Given the description of an element on the screen output the (x, y) to click on. 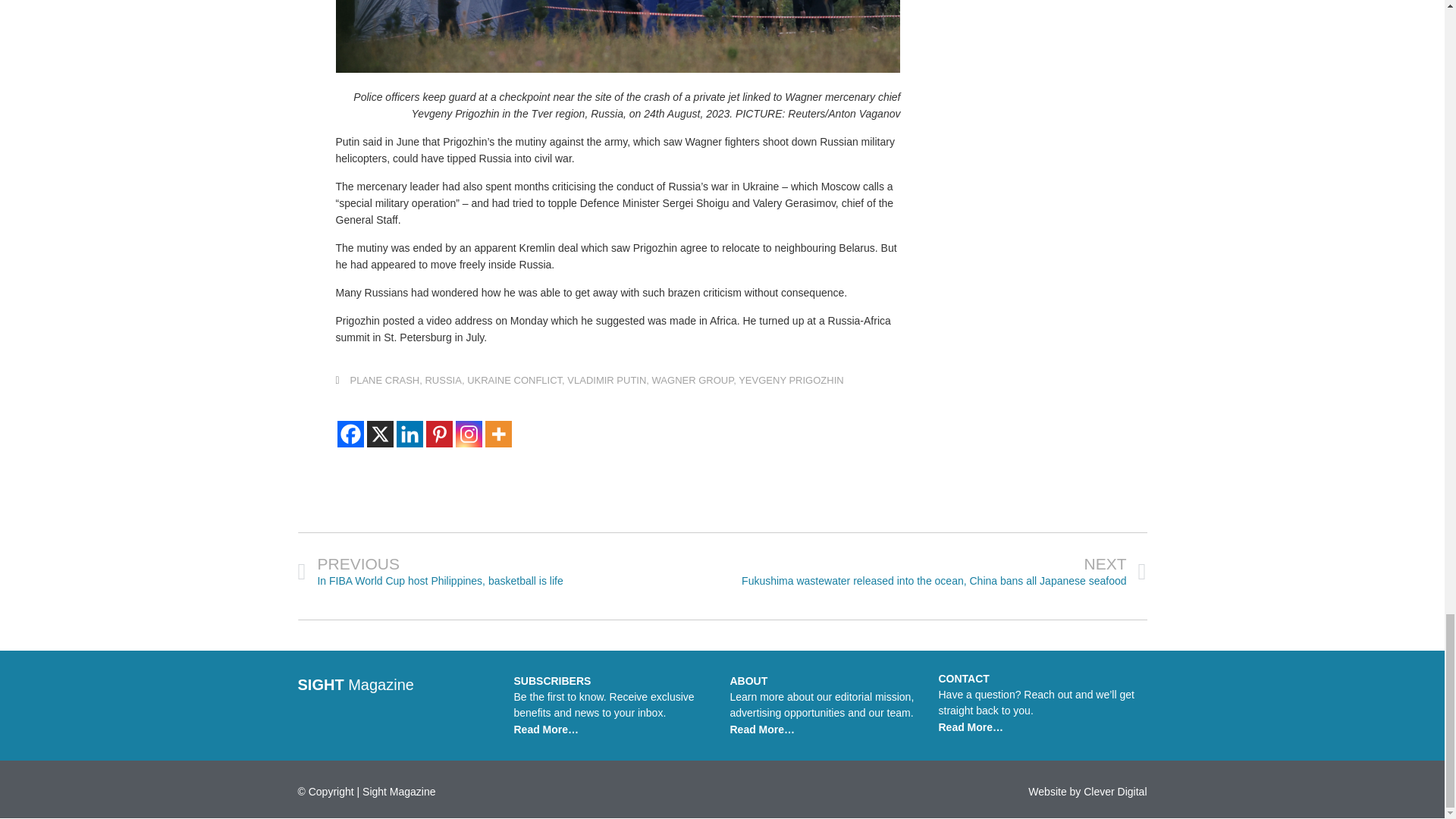
Linkedin (409, 433)
Instagram (467, 433)
Facebook (349, 433)
X (379, 433)
More (498, 433)
Pinterest (439, 433)
